Given the description of an element on the screen output the (x, y) to click on. 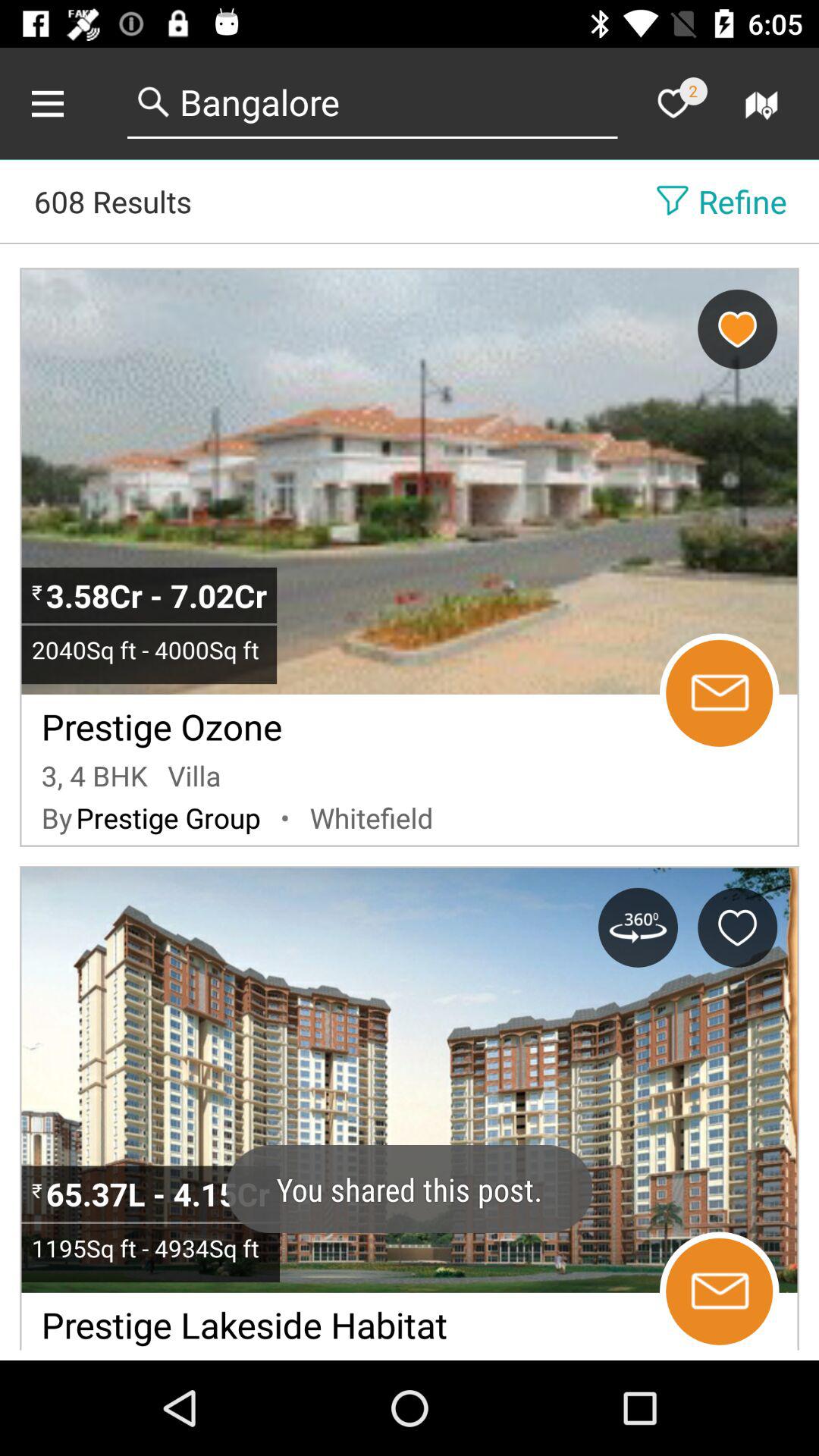
location map (764, 103)
